Given the description of an element on the screen output the (x, y) to click on. 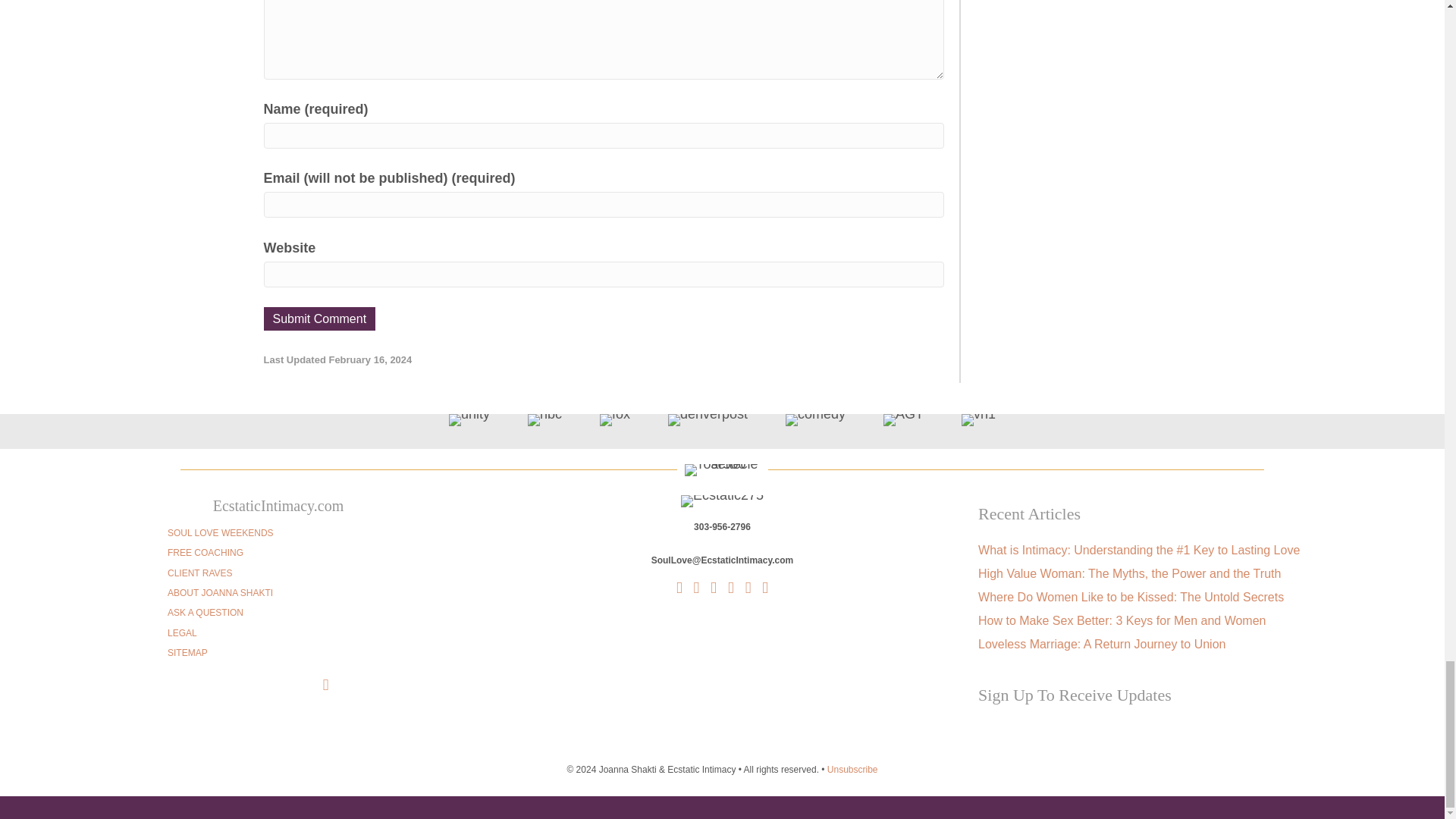
nbc (544, 419)
denverpost (708, 419)
fox (614, 419)
Submit Comment (319, 318)
AGT (903, 419)
unity (468, 419)
comedy (815, 419)
